Given the description of an element on the screen output the (x, y) to click on. 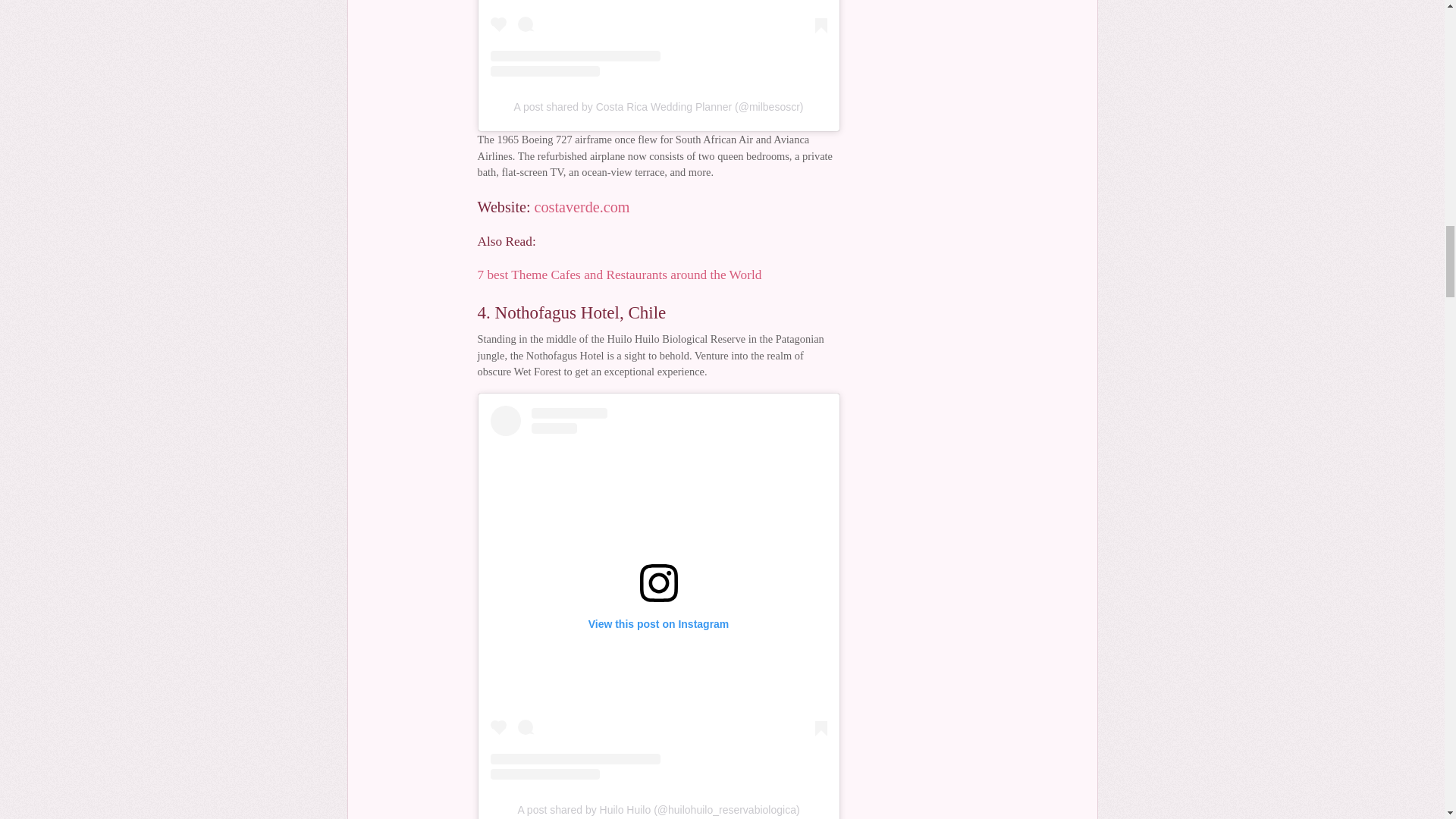
View this post on Instagram (658, 592)
costaverde.com (582, 207)
7 best Theme Cafes and Restaurants around the World (619, 274)
View this post on Instagram (658, 38)
